Given the description of an element on the screen output the (x, y) to click on. 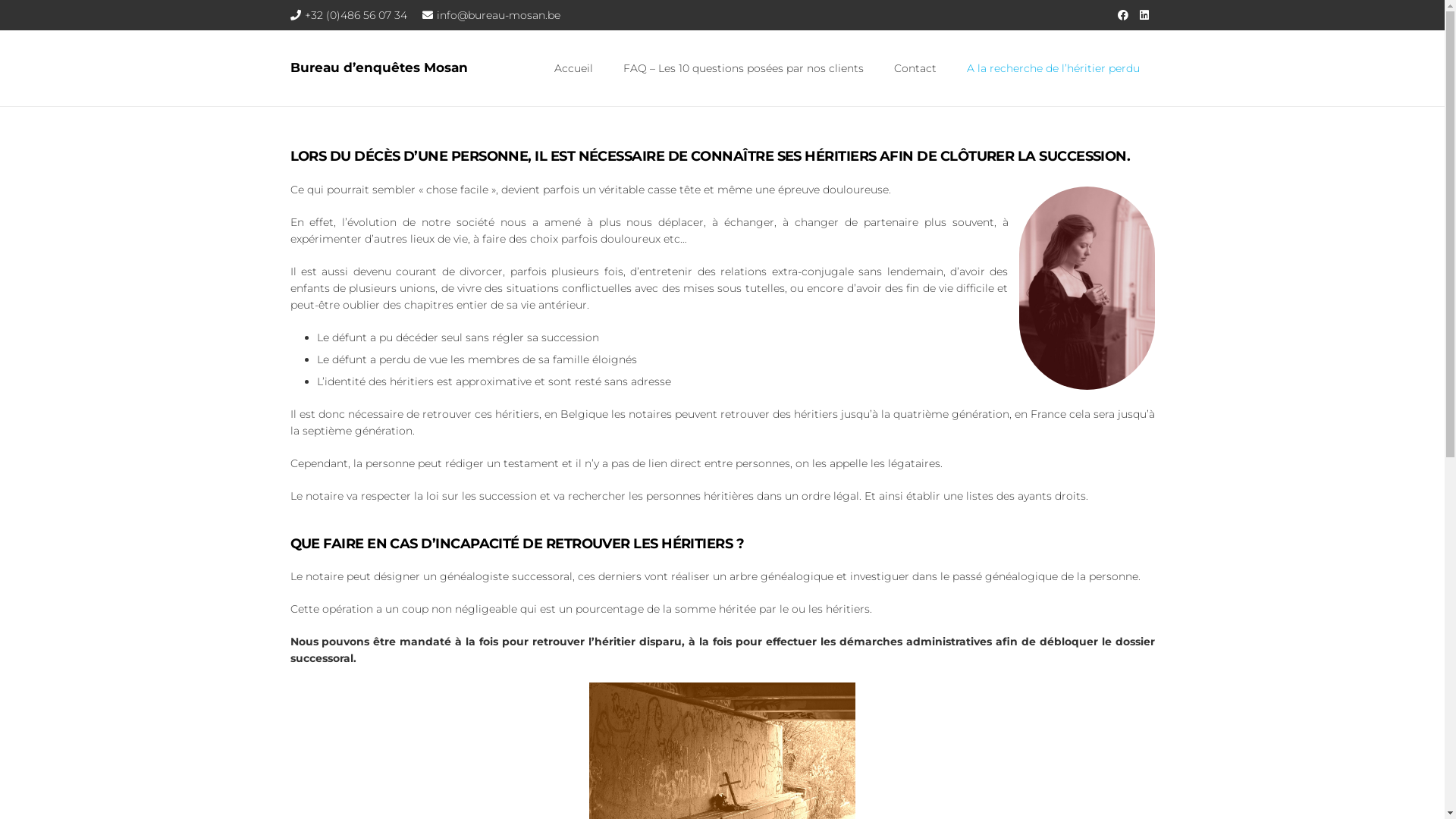
info@bureau-mosan.be Element type: text (491, 14)
Accueil Element type: text (572, 68)
Facebook Element type: hover (1121, 14)
LinkedIn Element type: hover (1143, 14)
+32 (0)486 56 07 34 Element type: text (348, 14)
Contact Element type: text (914, 68)
